Given the description of an element on the screen output the (x, y) to click on. 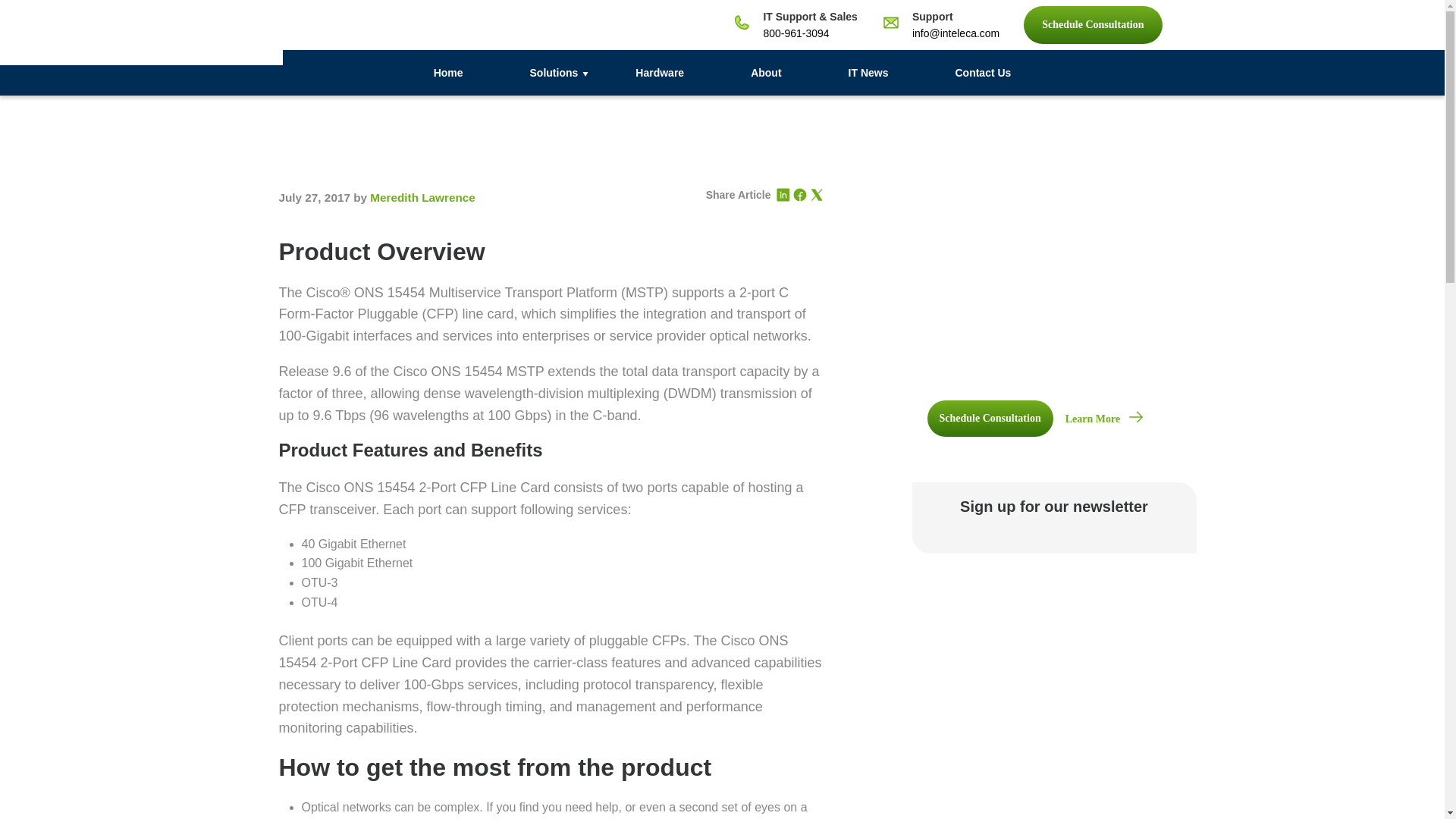
IT News (868, 72)
Meredith Lawrence (422, 196)
View all posts by Meredith Lawrence (422, 196)
Contact Us (982, 72)
800-961-3094 (795, 33)
About (765, 72)
Learn More (1103, 418)
Schedule Consultation (1092, 24)
Solutions (550, 72)
Home (449, 72)
Hardware (659, 72)
Schedule Consultation (989, 418)
